Given the description of an element on the screen output the (x, y) to click on. 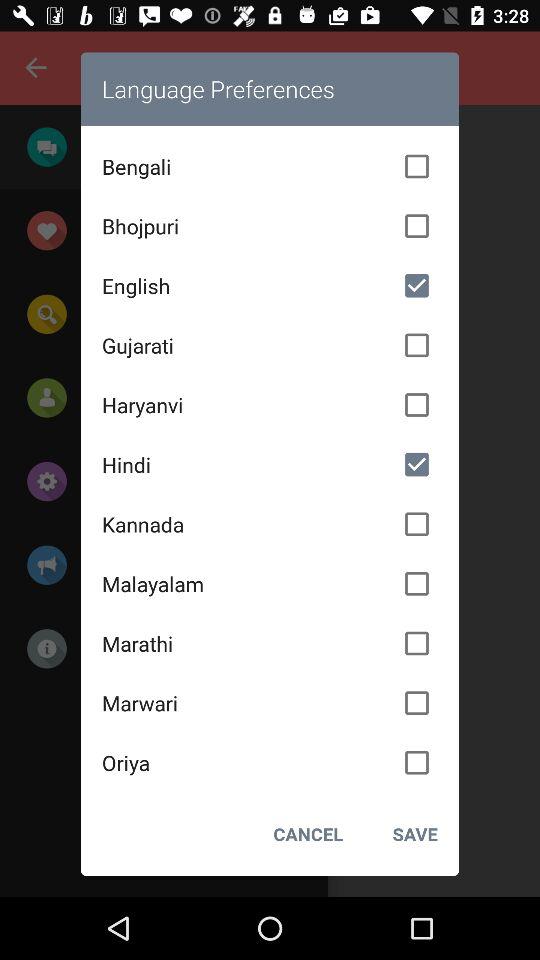
launch the haryanvi icon (270, 405)
